Given the description of an element on the screen output the (x, y) to click on. 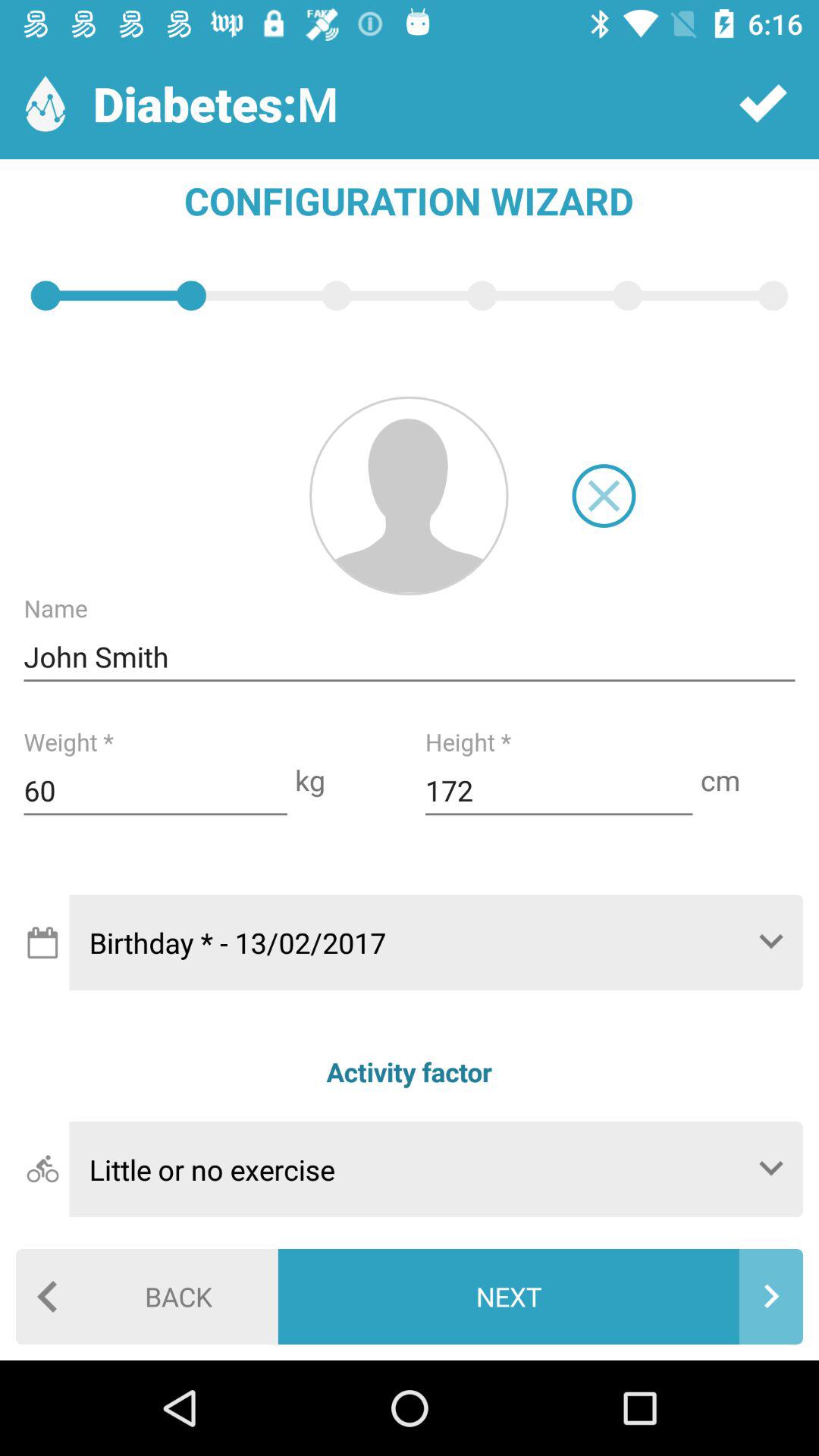
profile picture (408, 495)
